Given the description of an element on the screen output the (x, y) to click on. 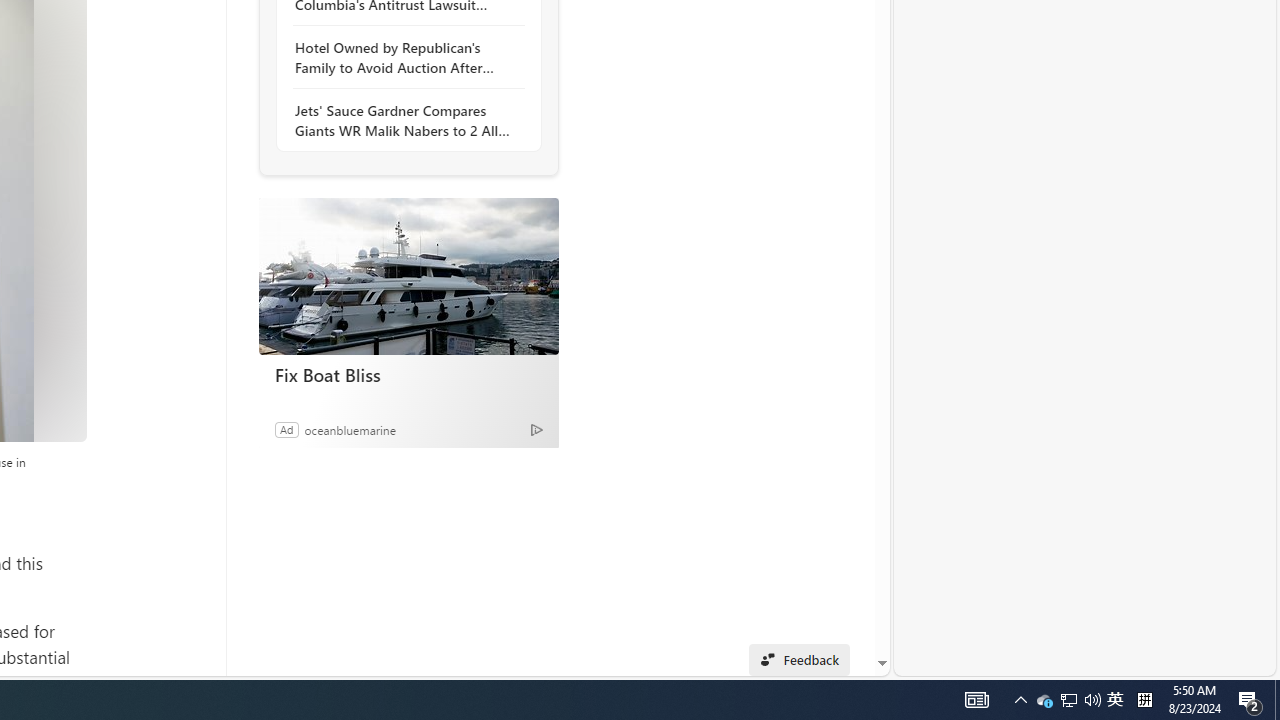
Fix Boat Bliss (408, 276)
Ad Choice (535, 429)
Ad (286, 429)
Feedback (798, 659)
Fix Boat Bliss (407, 374)
oceanbluemarine (349, 429)
